Given the description of an element on the screen output the (x, y) to click on. 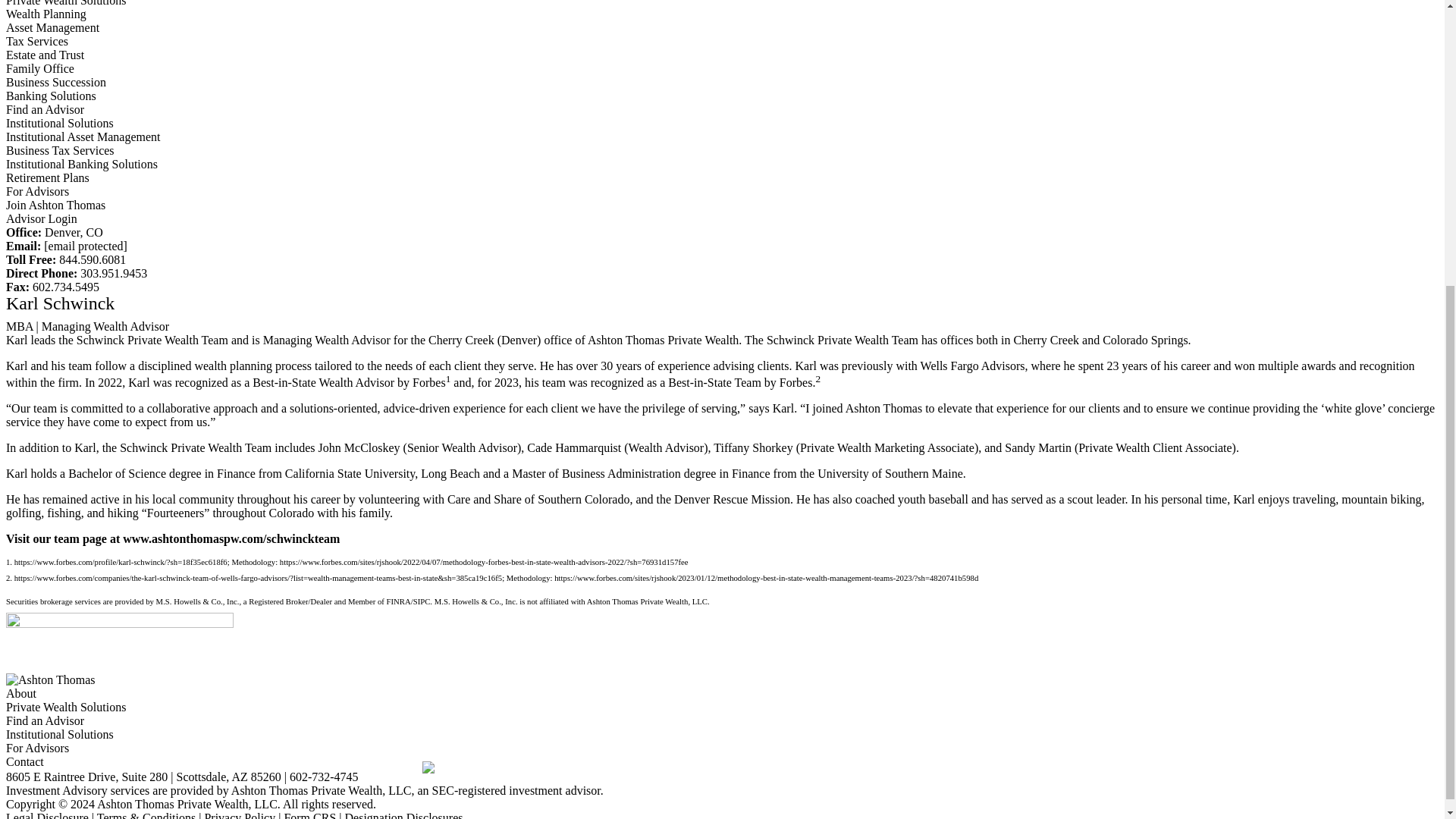
Tax Services (36, 41)
Estate and Trust (44, 54)
Banking Solutions (50, 95)
Asset Management (52, 27)
Private Wealth Solutions (65, 3)
Business Succession (55, 82)
Wealth Planning (45, 13)
Family Office (39, 68)
